Given the description of an element on the screen output the (x, y) to click on. 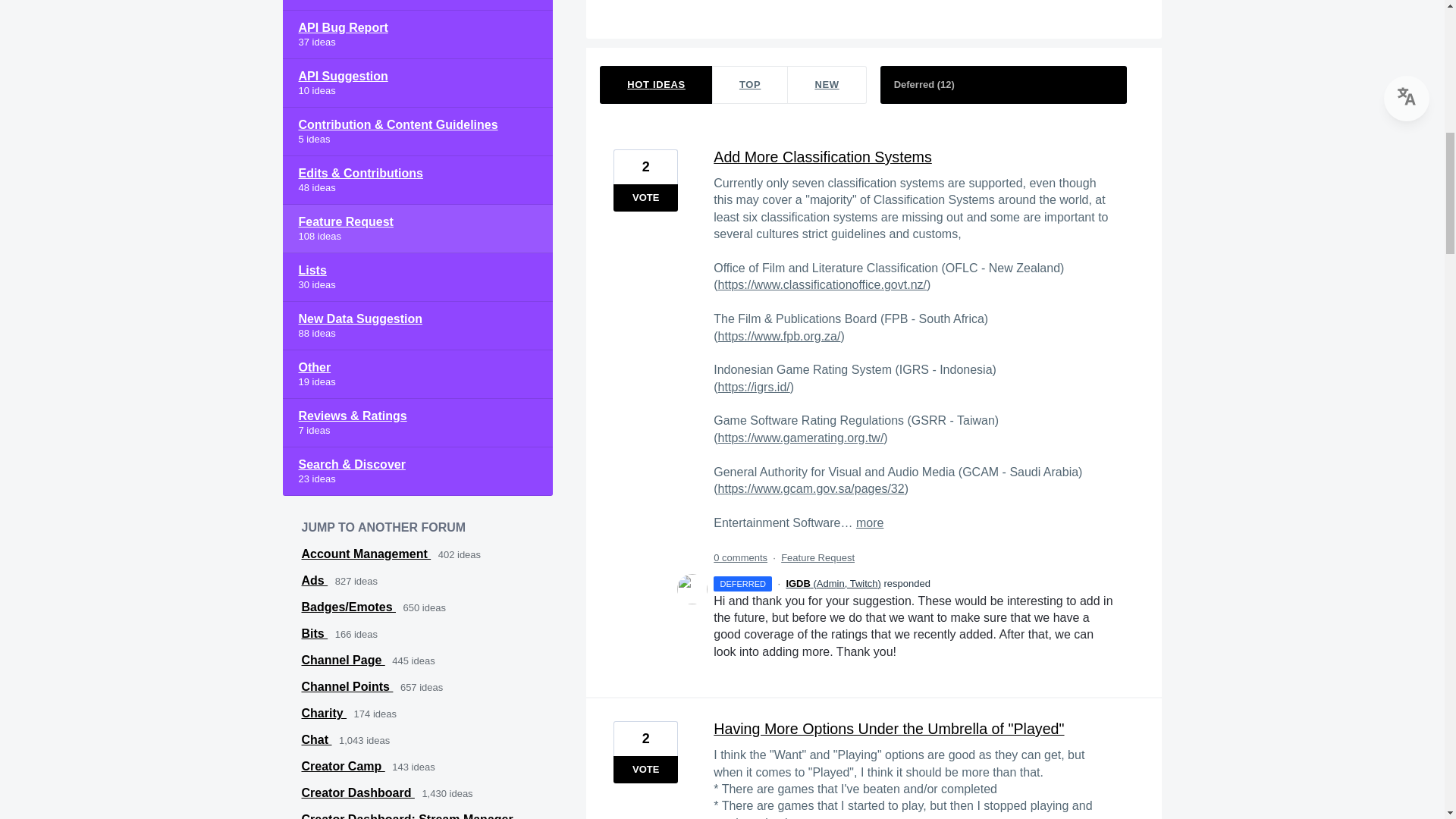
View all ideas in category New Data Suggestion (417, 326)
View all ideas in category Lists (417, 277)
View all ideas in category API Suggestion (417, 82)
View all ideas in category API Bug Report (417, 34)
View all ideas in Account Management (365, 553)
View all ideas in category Other (417, 374)
View all ideas in category Feature Request (417, 228)
